Given the description of an element on the screen output the (x, y) to click on. 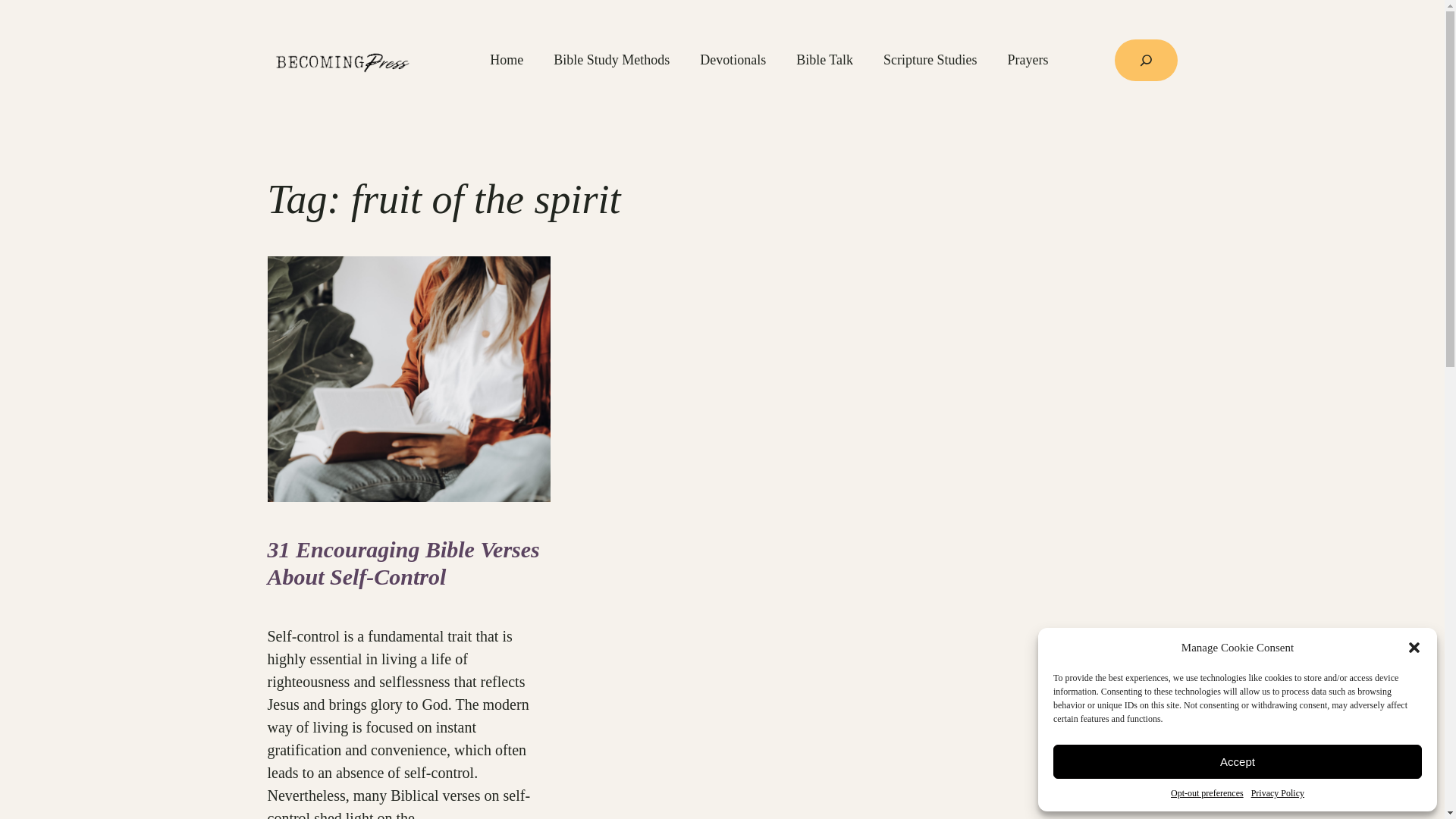
Devotionals (732, 59)
Bible Talk (824, 59)
Privacy Policy (1277, 793)
Home (505, 59)
Prayers (1027, 59)
31 Encouraging Bible Verses About Self-Control (408, 563)
Bible Study Methods (611, 59)
Accept (1237, 761)
Scripture Studies (929, 59)
Opt-out preferences (1206, 793)
